Given the description of an element on the screen output the (x, y) to click on. 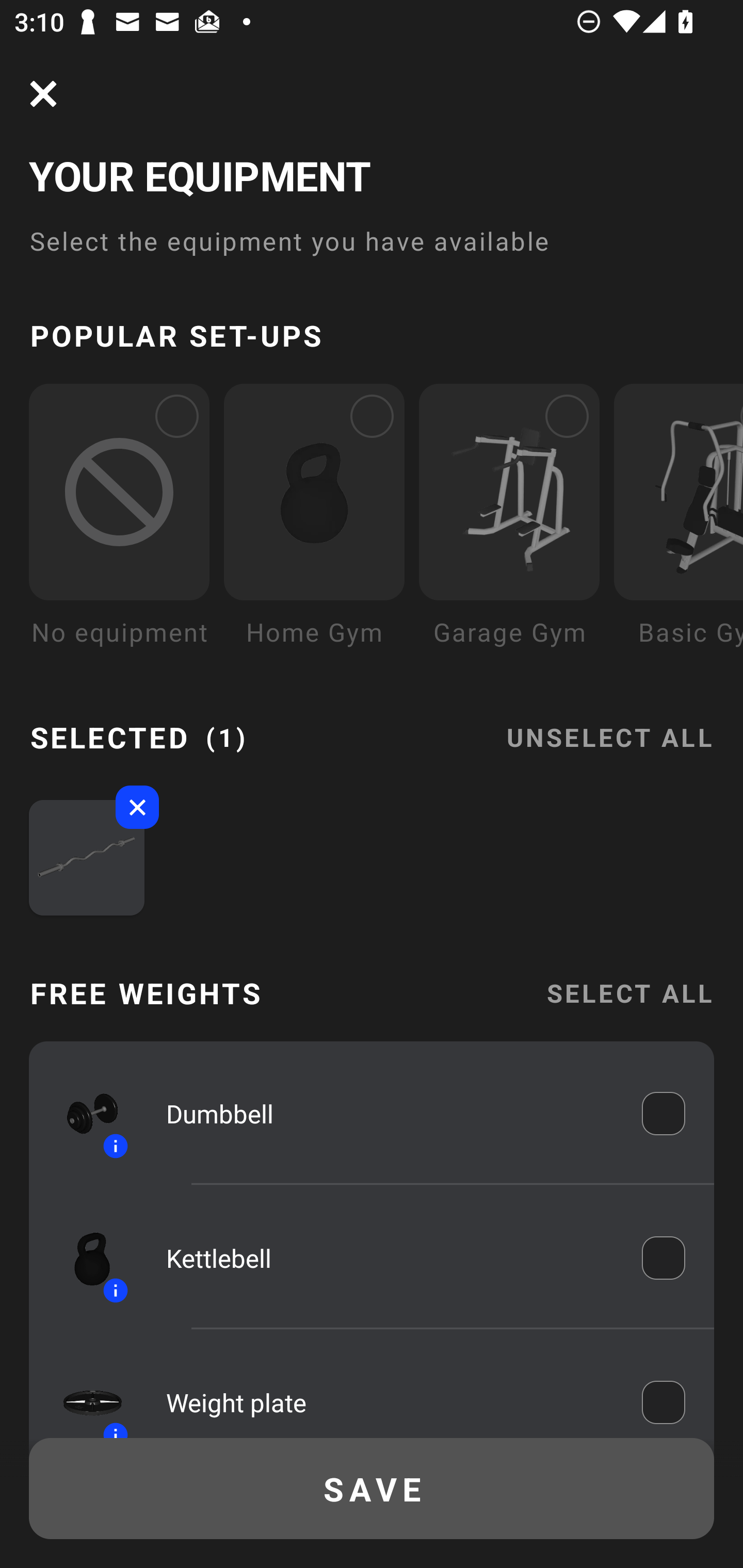
Navigation icon (43, 93)
UNSELECT ALL (609, 725)
SELECT ALL (629, 993)
Equipment icon Information icon (82, 1113)
Dumbbell (389, 1113)
Equipment icon Information icon (82, 1258)
Kettlebell (389, 1258)
Equipment icon Information icon (82, 1392)
Weight plate (389, 1398)
SAVE (371, 1488)
